Given the description of an element on the screen output the (x, y) to click on. 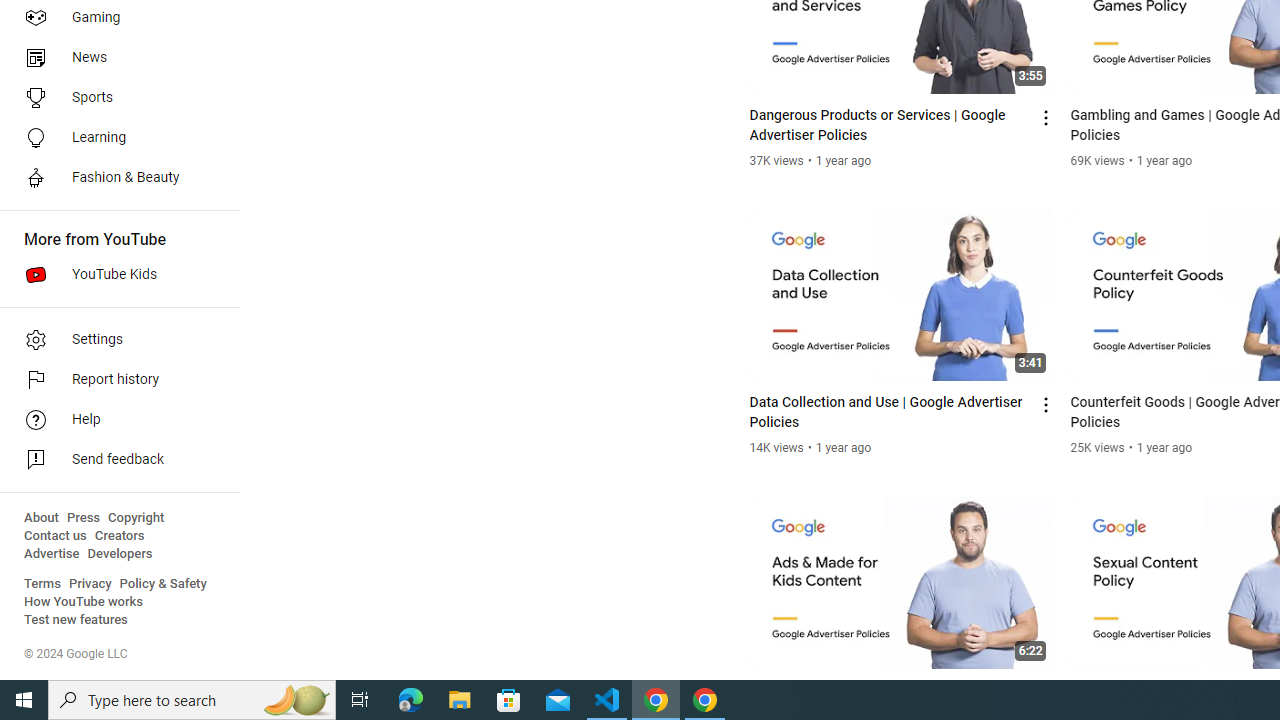
How YouTube works (83, 602)
About (41, 518)
YouTube Kids (113, 274)
Report history (113, 380)
Send feedback (113, 459)
Contact us (55, 536)
Developers (120, 554)
Copyright (136, 518)
Creators (118, 536)
Learning (113, 137)
Press (83, 518)
Sports (113, 97)
